Given the description of an element on the screen output the (x, y) to click on. 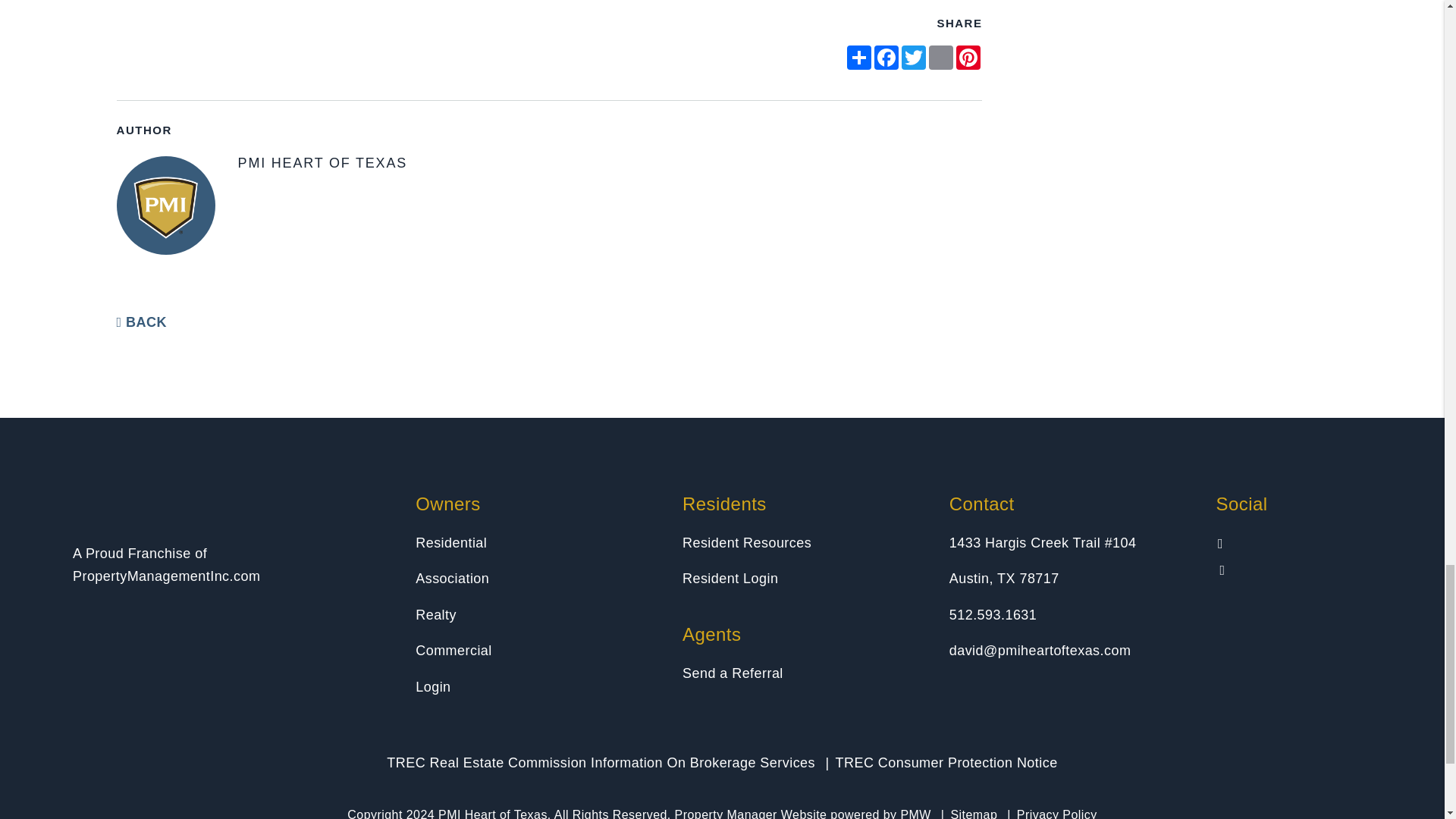
opens in new window (858, 57)
opens in new window (885, 57)
